Given the description of an element on the screen output the (x, y) to click on. 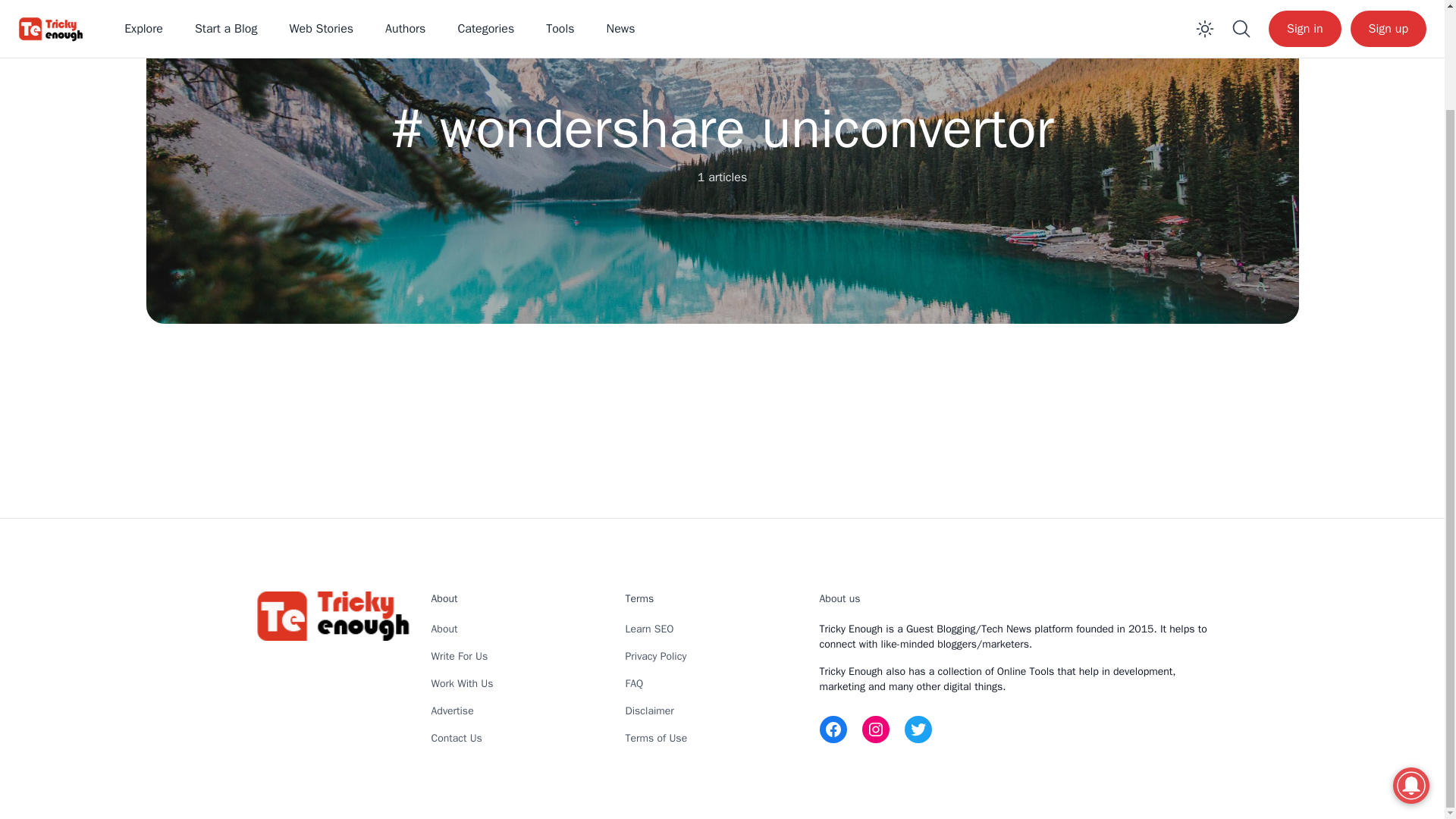
Privacy Policy (654, 656)
Write For Us (458, 656)
Work With Us (461, 683)
Facebook (831, 728)
Instagram (874, 728)
About (443, 628)
Advertise (451, 710)
FAQ (633, 683)
Contact Us (455, 738)
Terms of Use (655, 738)
Learn SEO (648, 628)
Twitter (917, 728)
Disclaimer (648, 710)
